Given the description of an element on the screen output the (x, y) to click on. 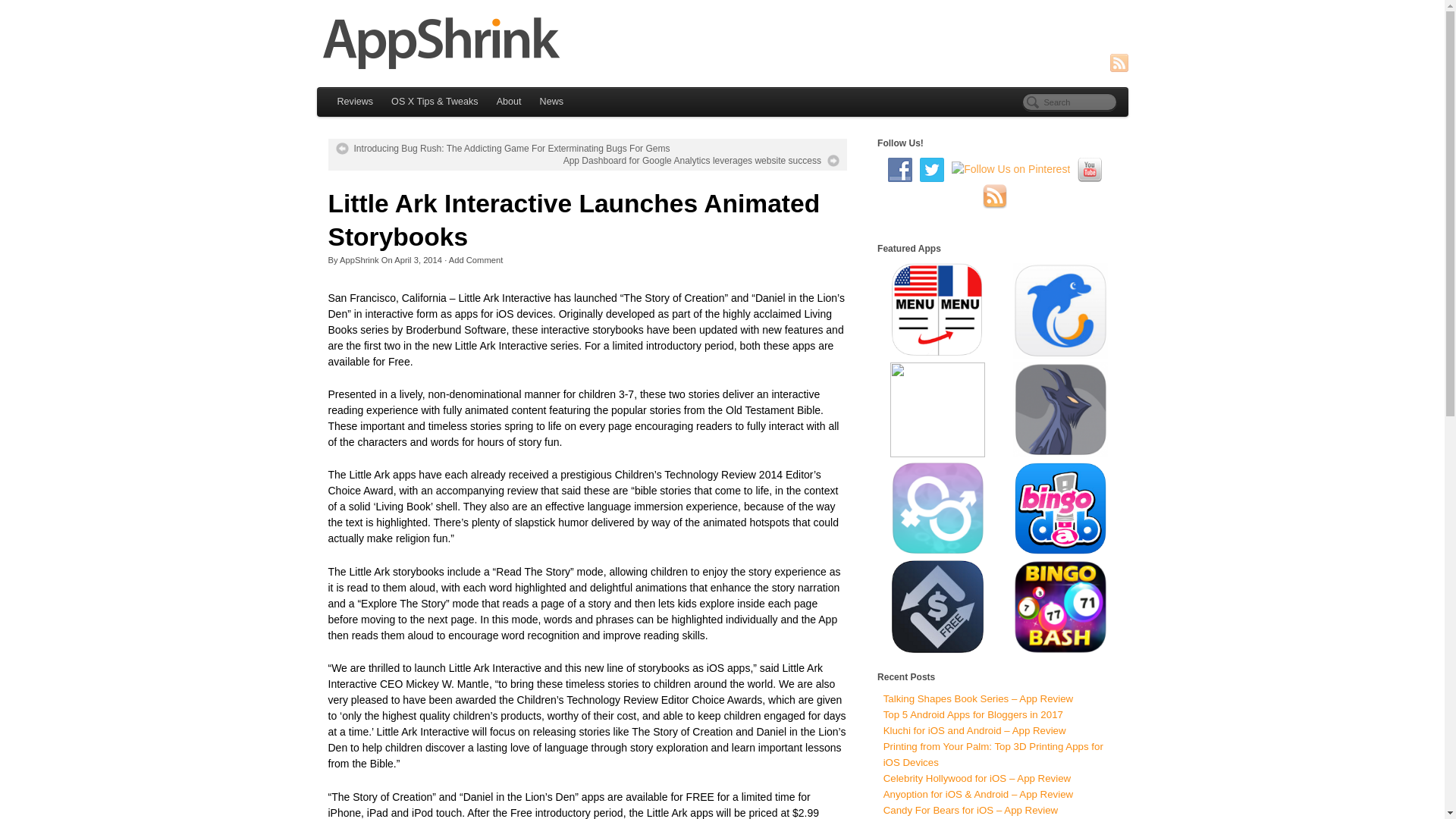
Reviews (354, 102)
Add Comment (475, 259)
News (552, 102)
Reviews (354, 102)
AppShrink (722, 41)
App Dashboard for Google Analytics leverages website success (701, 160)
AppShrink (358, 259)
Posts by AppShrink (358, 259)
About (509, 102)
